Given the description of an element on the screen output the (x, y) to click on. 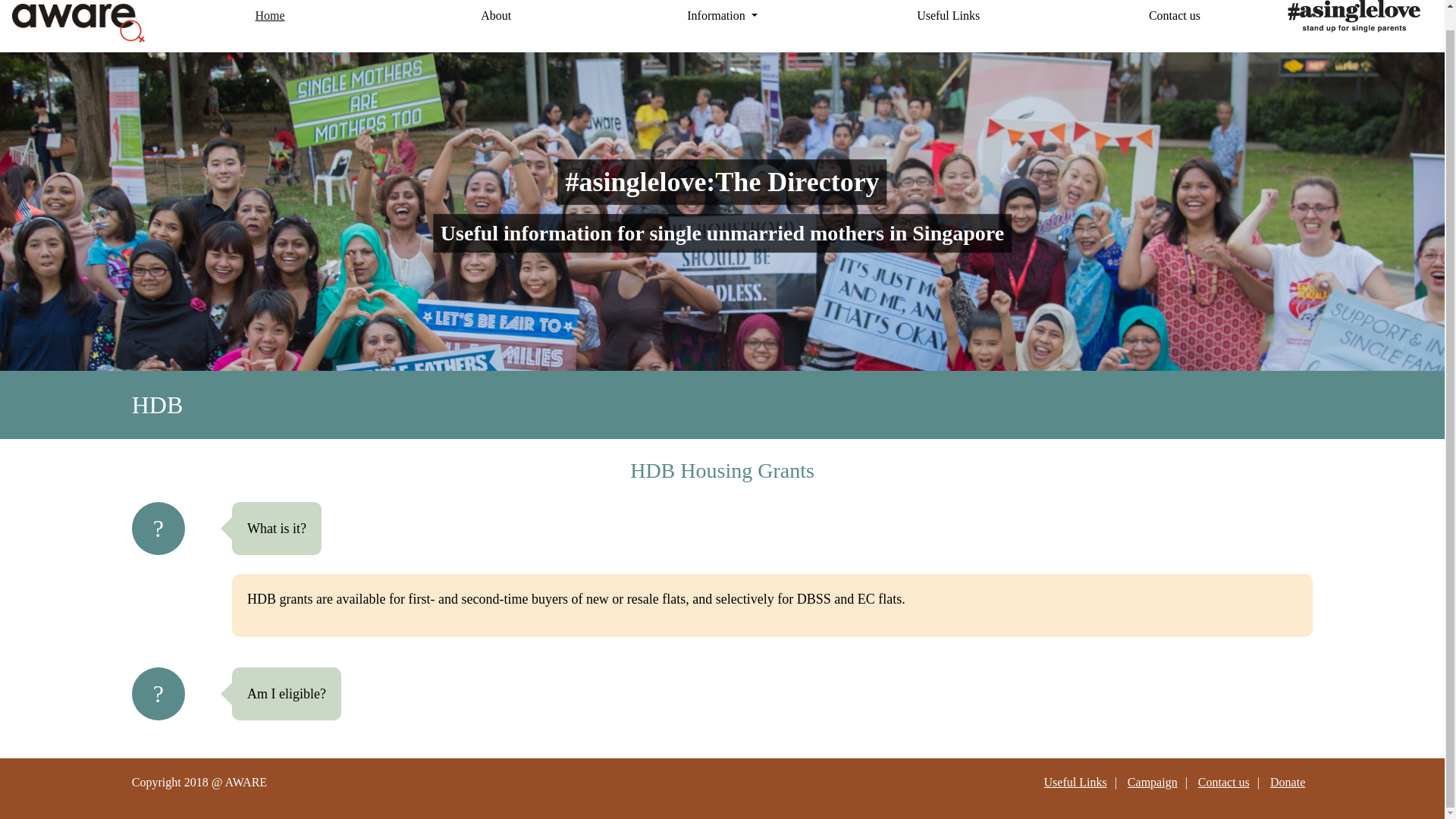
Useful Links (1074, 781)
Contact us (1174, 15)
Information (721, 15)
About (495, 15)
Campaign (1151, 781)
Useful Links (948, 15)
Contact us (1223, 781)
Donate (1286, 781)
Home (269, 15)
